Given the description of an element on the screen output the (x, y) to click on. 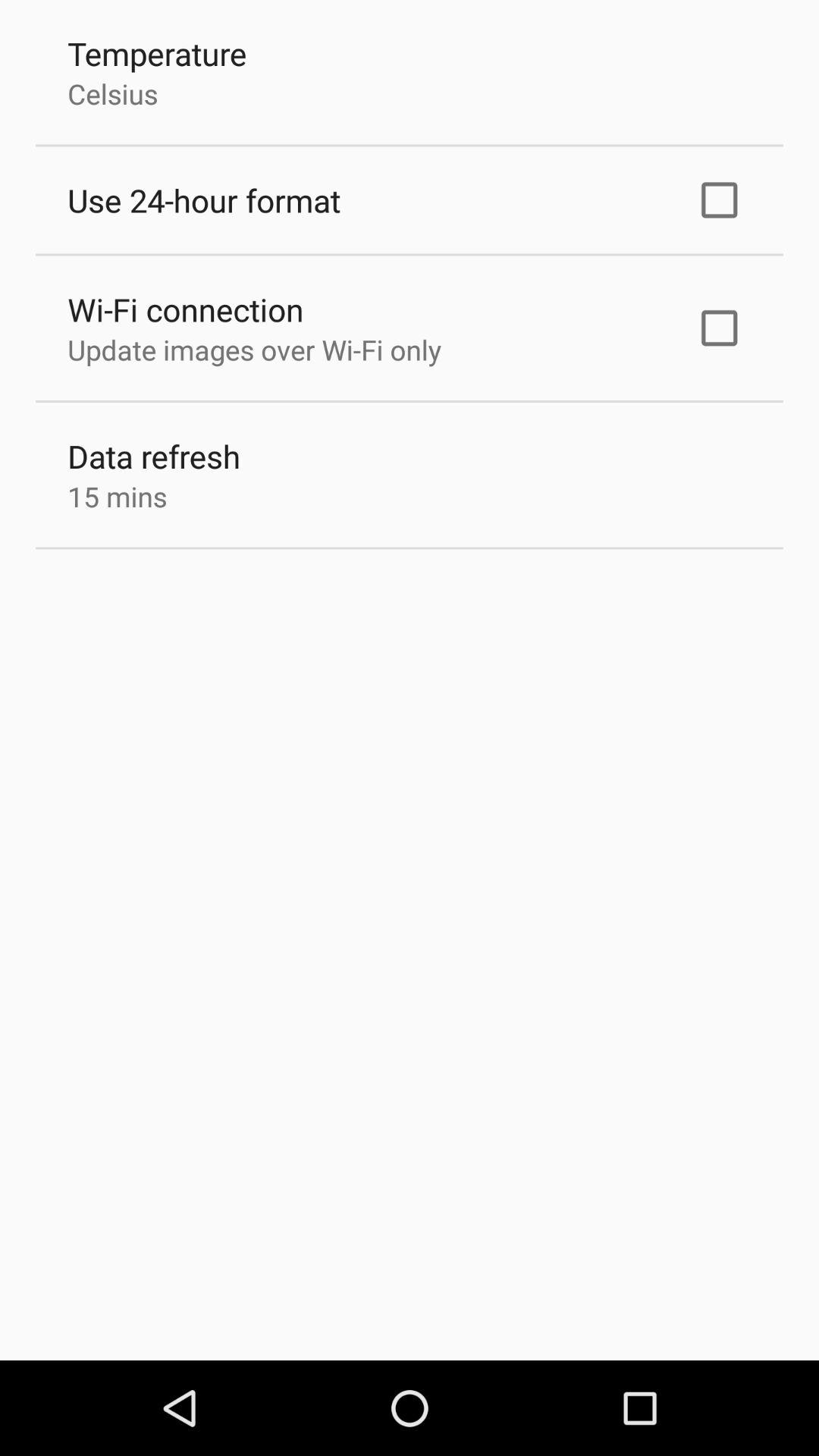
swipe until the celsius (112, 93)
